Given the description of an element on the screen output the (x, y) to click on. 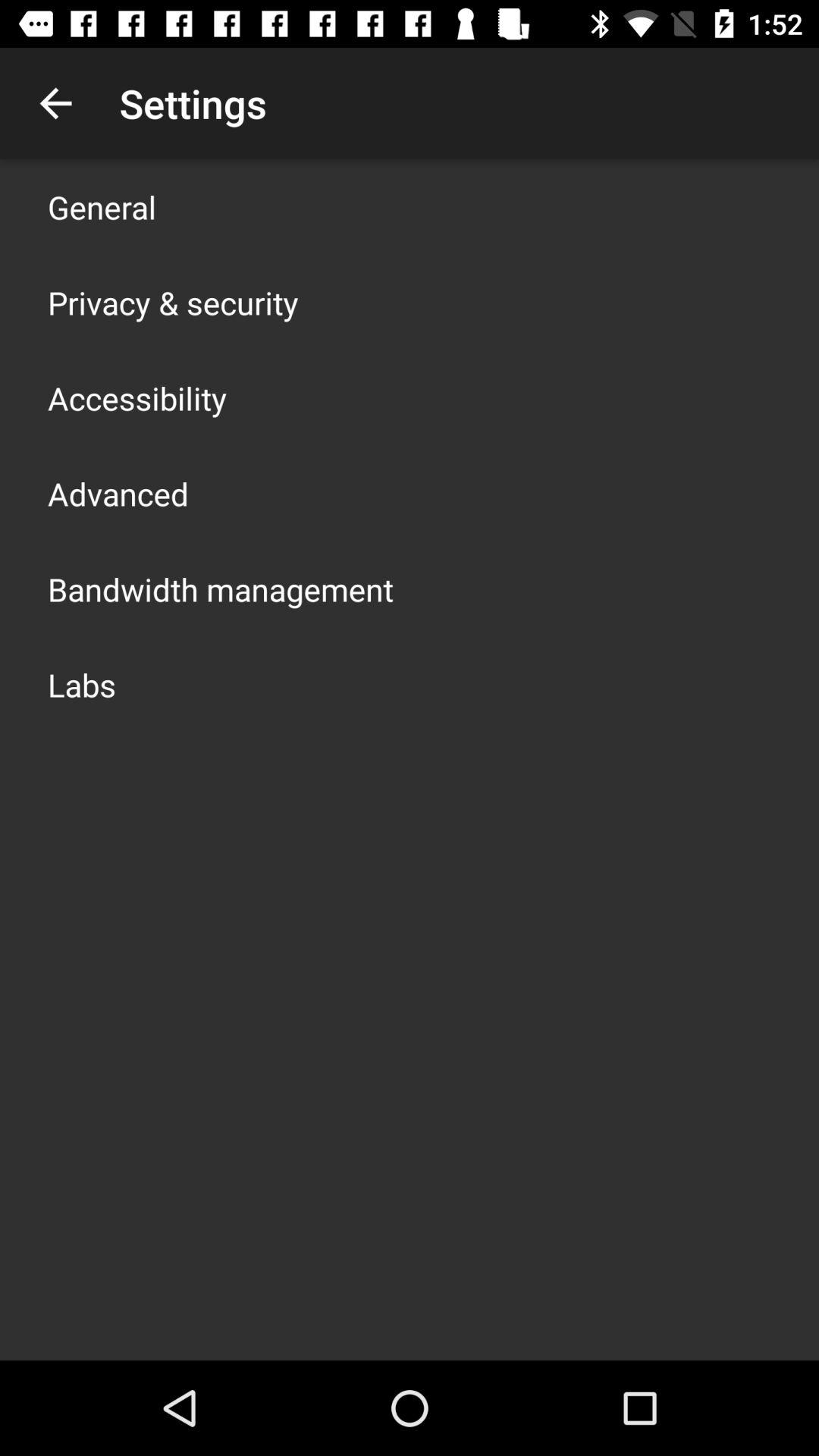
press accessibility item (136, 397)
